Given the description of an element on the screen output the (x, y) to click on. 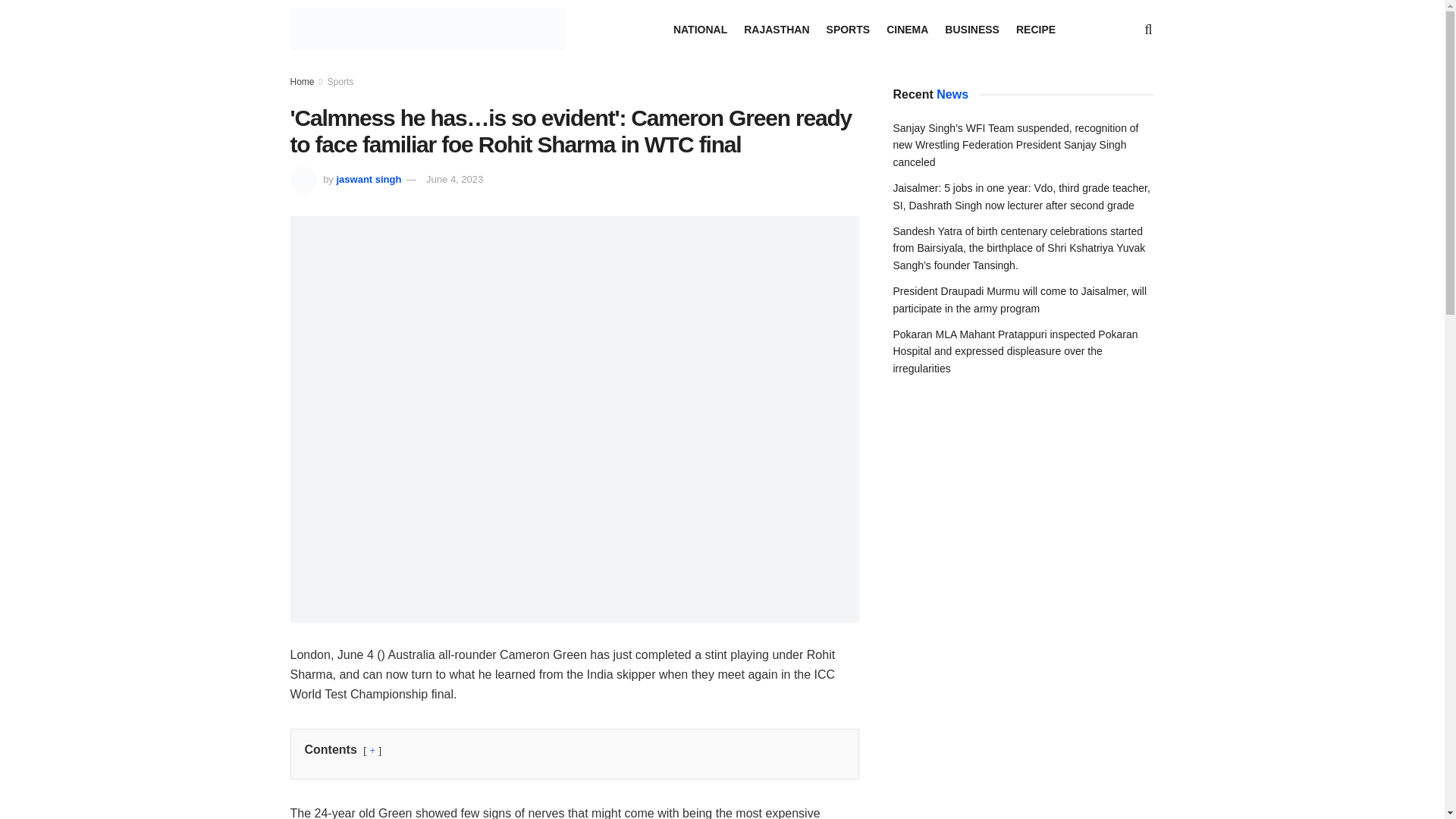
BUSINESS (971, 28)
Home (301, 81)
RAJASTHAN (776, 28)
CINEMA (907, 28)
June 4, 2023 (454, 179)
RECIPE (1035, 28)
NATIONAL (699, 28)
SPORTS (848, 28)
jaswant singh (368, 179)
